Given the description of an element on the screen output the (x, y) to click on. 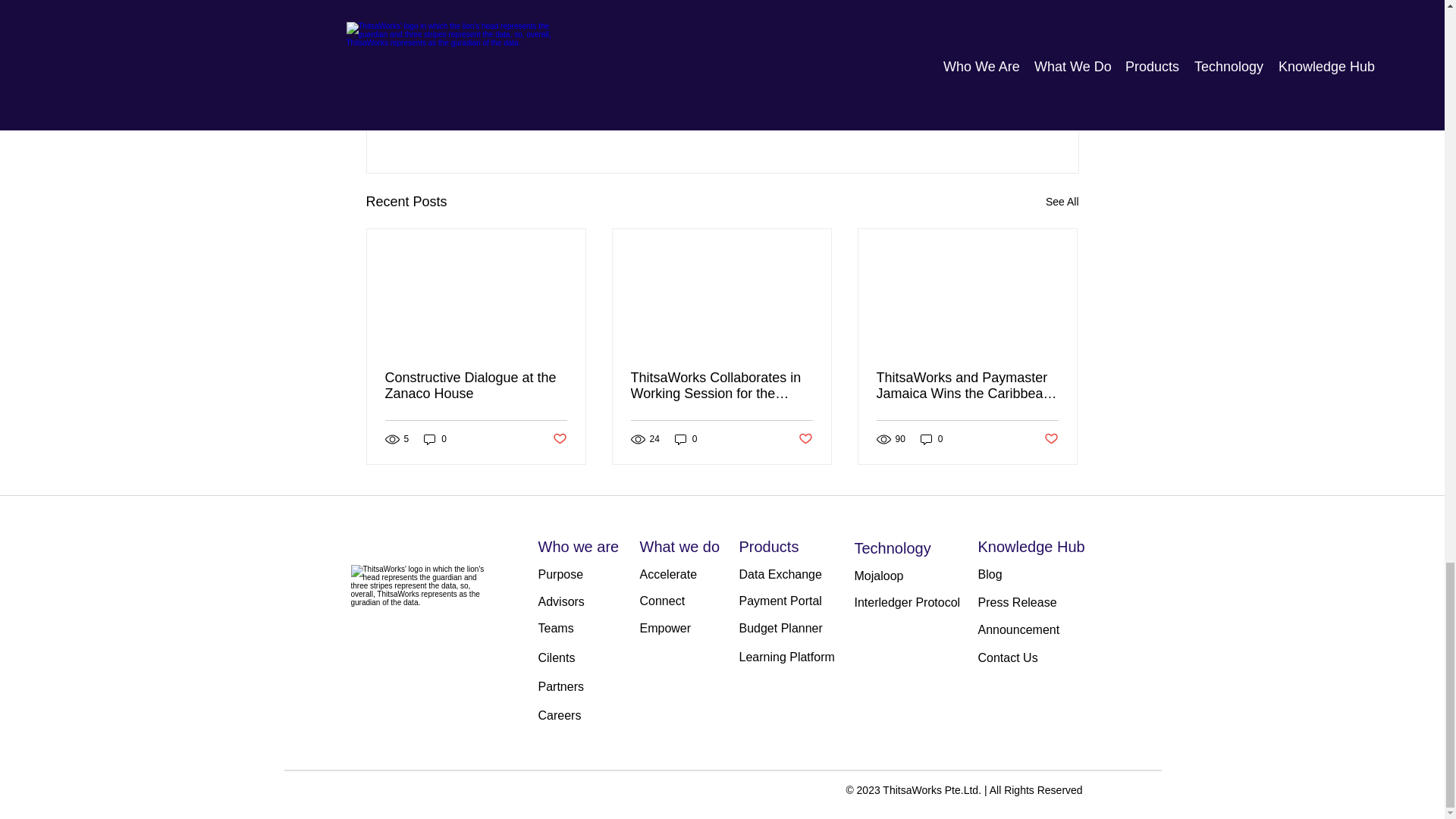
Constructive Dialogue at the Zanaco House (476, 386)
See All (1061, 201)
Post not marked as liked (995, 119)
Post not marked as liked (804, 439)
0 (685, 439)
Announcement (967, 73)
Post not marked as liked (558, 439)
0 (435, 439)
